Given the description of an element on the screen output the (x, y) to click on. 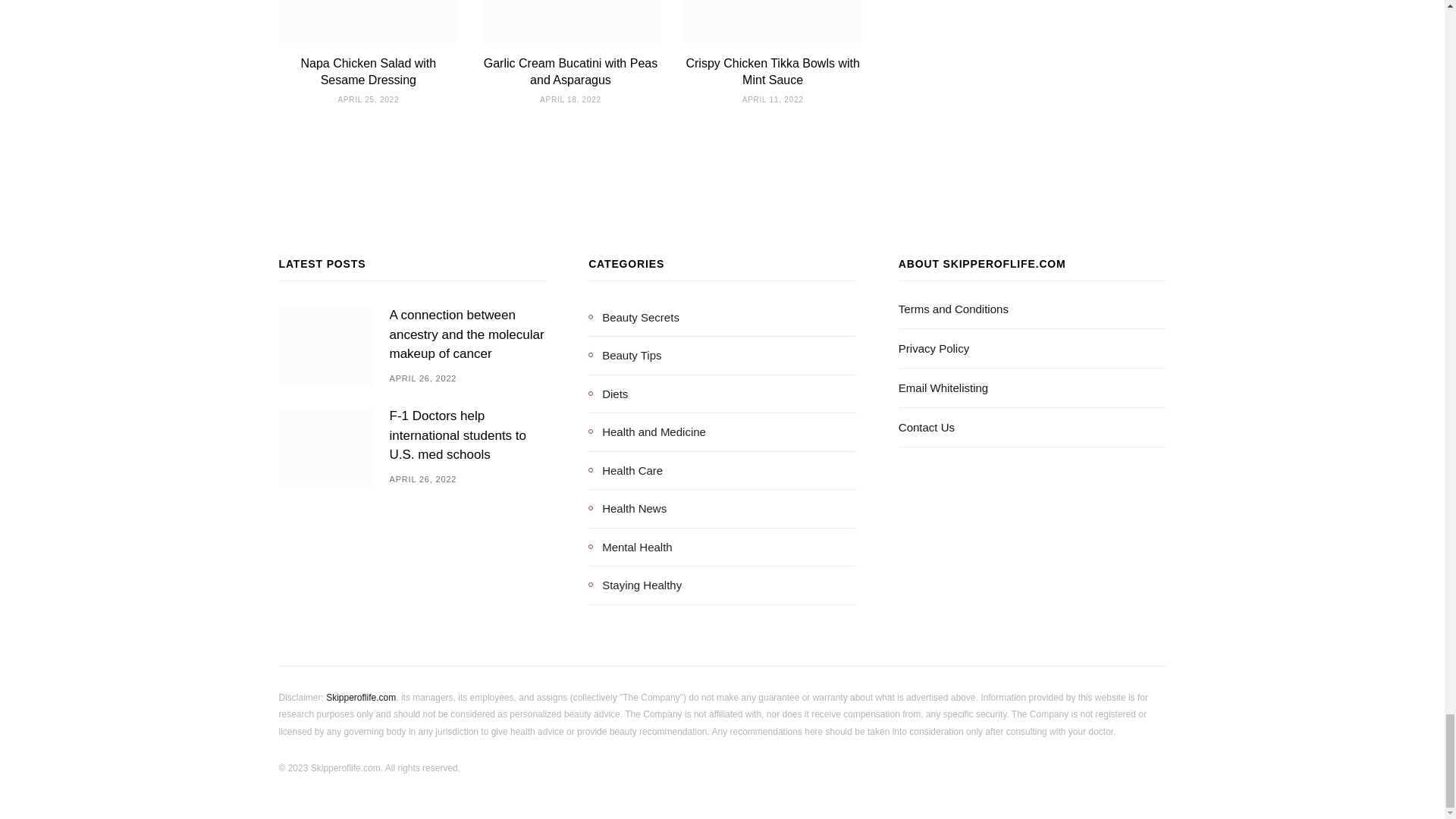
APRIL 18, 2022 (570, 99)
Napa Chicken Salad with Sesame Dressing (367, 71)
Crispy Chicken Tikka Bowls with Mint Sauce (772, 71)
APRIL 25, 2022 (367, 99)
APRIL 11, 2022 (772, 99)
Garlic Cream Bucatini with Peas and Asparagus (570, 71)
